Given the description of an element on the screen output the (x, y) to click on. 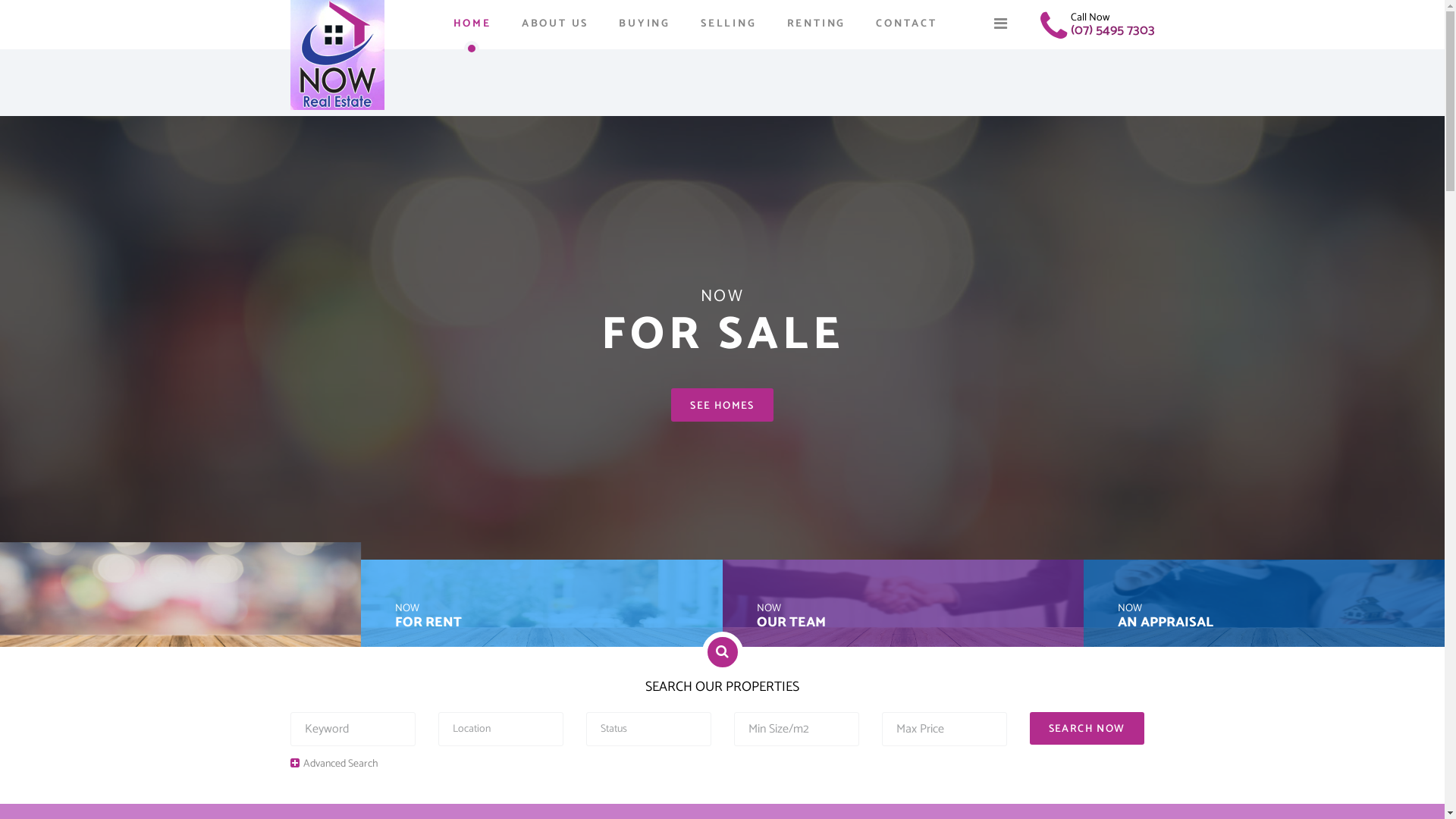
SEARCH NOW Element type: text (1086, 728)
ABOUT US Element type: text (554, 24)
CONTACT Element type: text (906, 24)
SEE HOMES Element type: text (722, 404)
HOME Element type: text (472, 24)
SELLING Element type: text (728, 24)
BUYING Element type: text (644, 24)
RENTING Element type: text (816, 24)
Call Now Element type: text (1089, 17)
Advanced Search Element type: text (333, 763)
(07) 5495 7303 Element type: text (1112, 29)
